Given the description of an element on the screen output the (x, y) to click on. 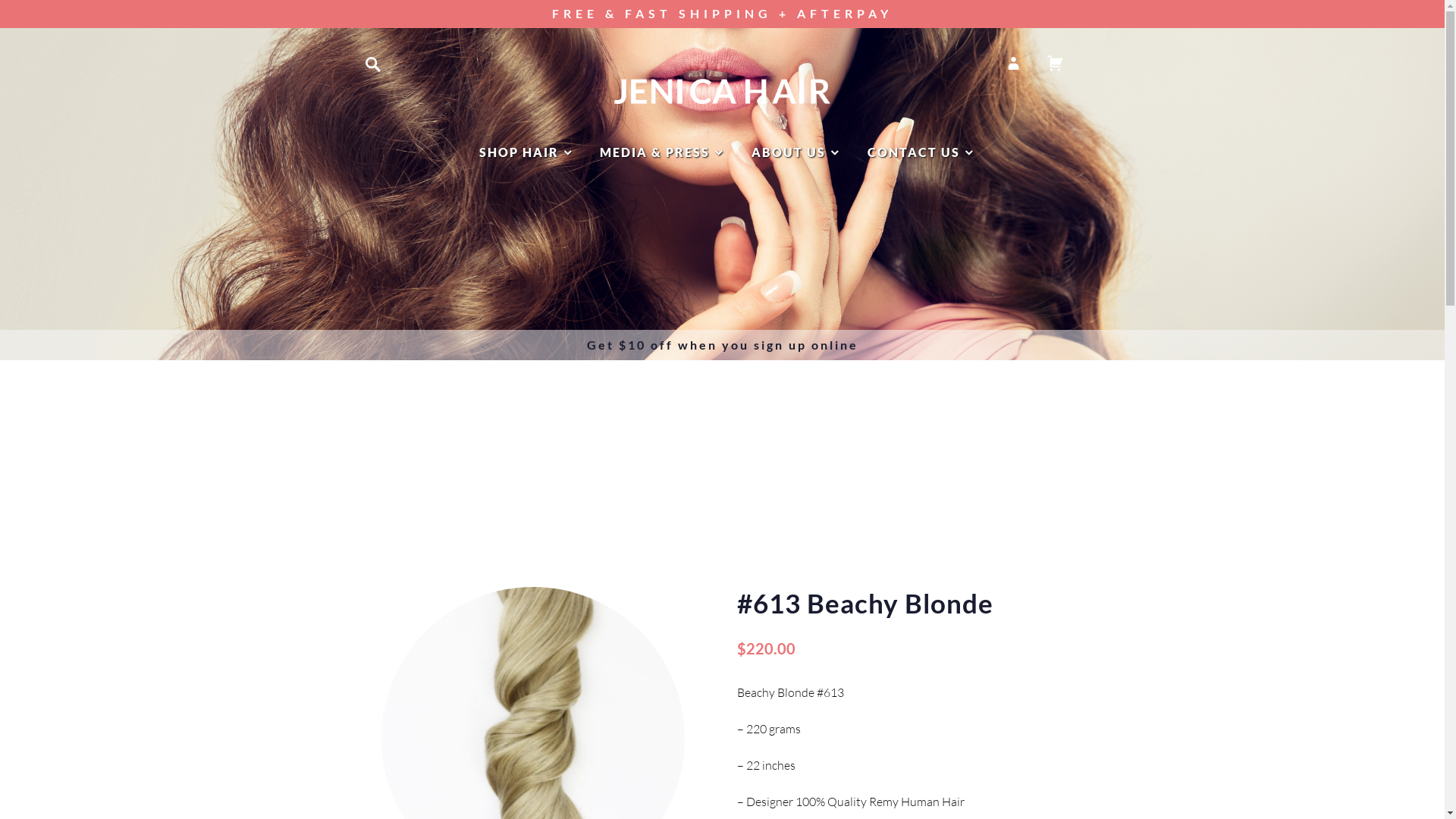
MEDIA & PRESS Element type: text (663, 152)
Return to homepage Element type: hover (722, 91)
CONTACT US Element type: text (921, 152)
SHOP HAIR Element type: text (527, 152)
ABOUT US Element type: text (796, 152)
